Given the description of an element on the screen output the (x, y) to click on. 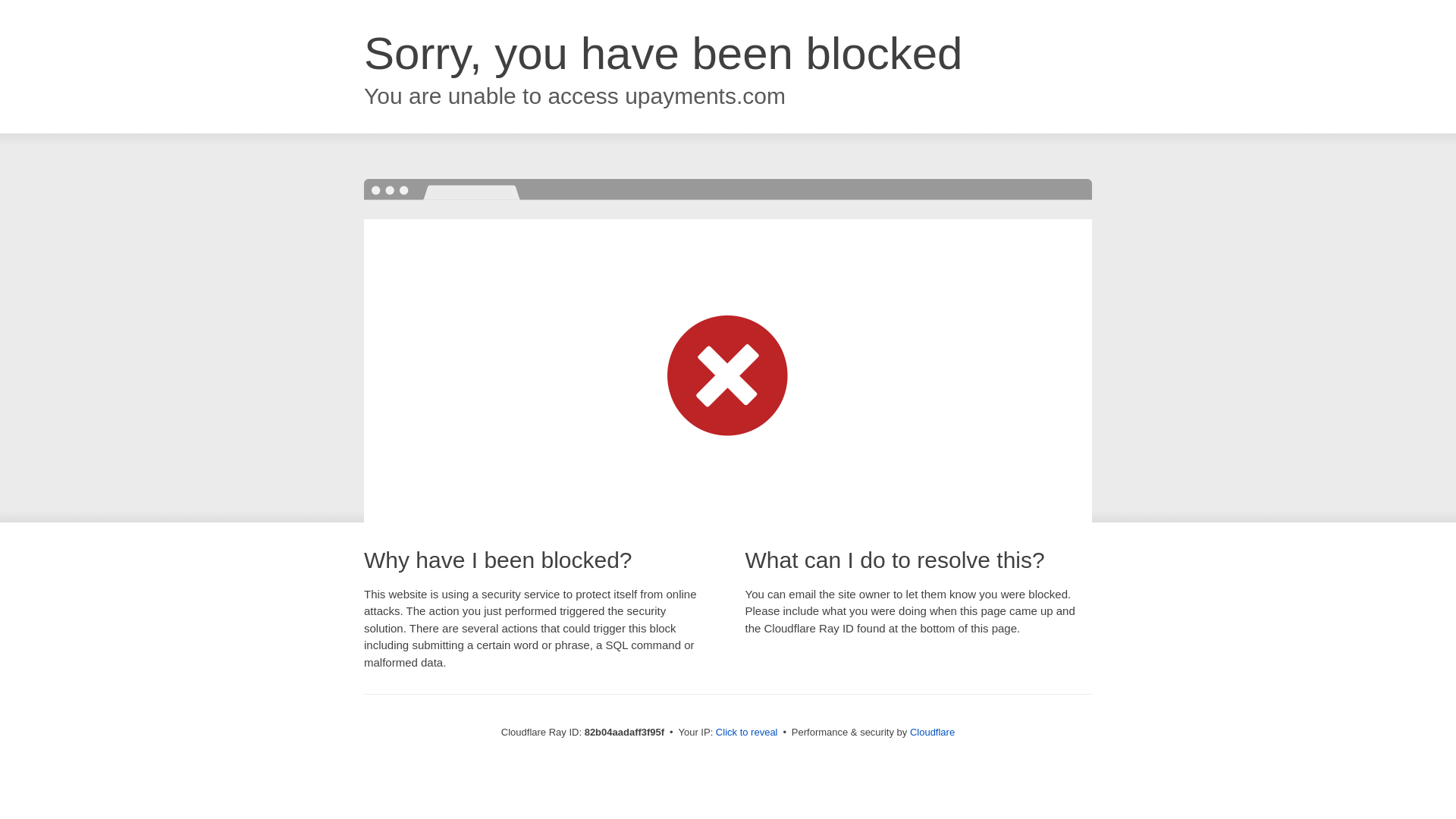
Cloudflare Element type: text (932, 731)
Click to reveal Element type: text (746, 732)
